Given the description of an element on the screen output the (x, y) to click on. 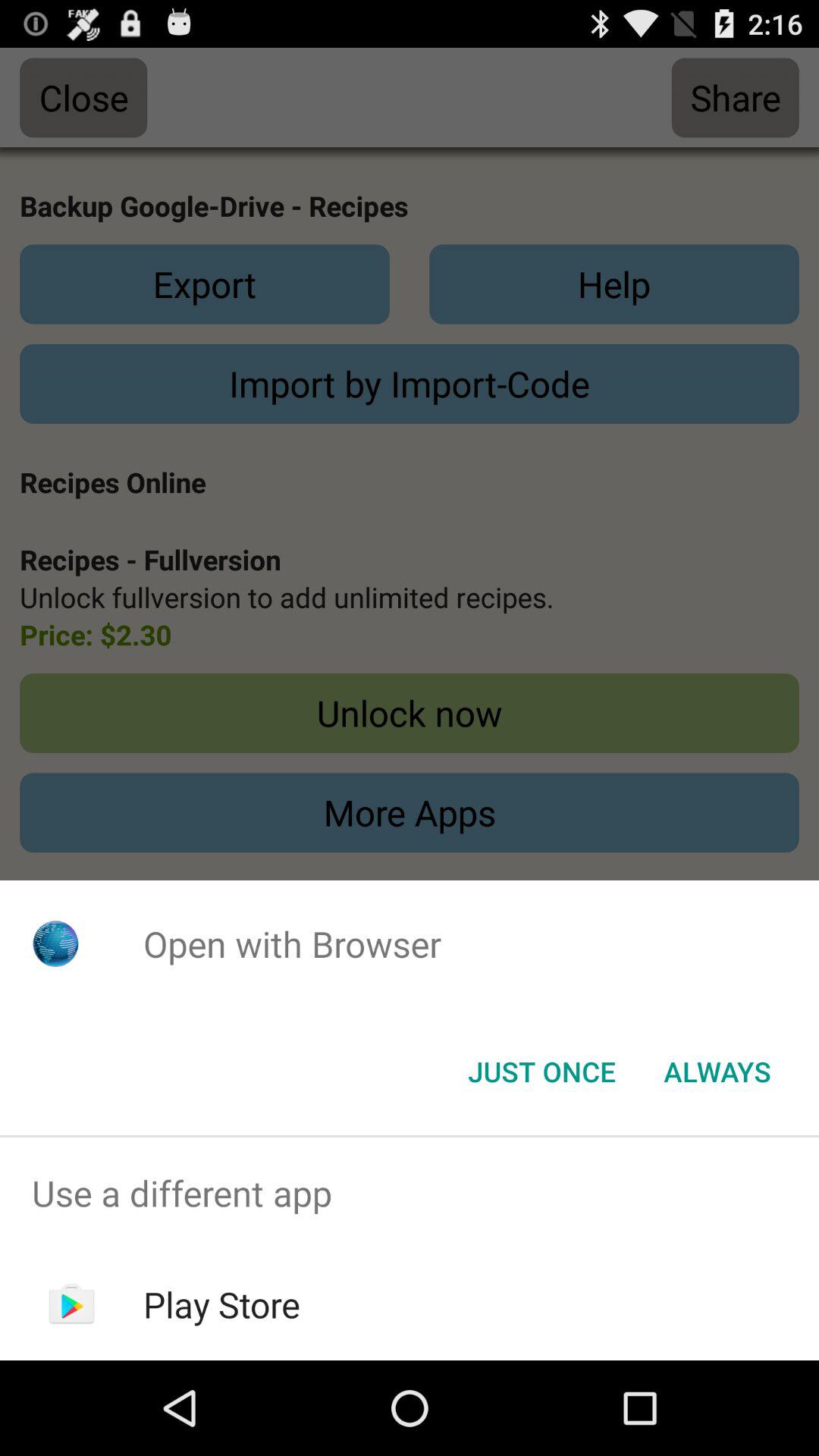
jump until the just once button (541, 1071)
